Given the description of an element on the screen output the (x, y) to click on. 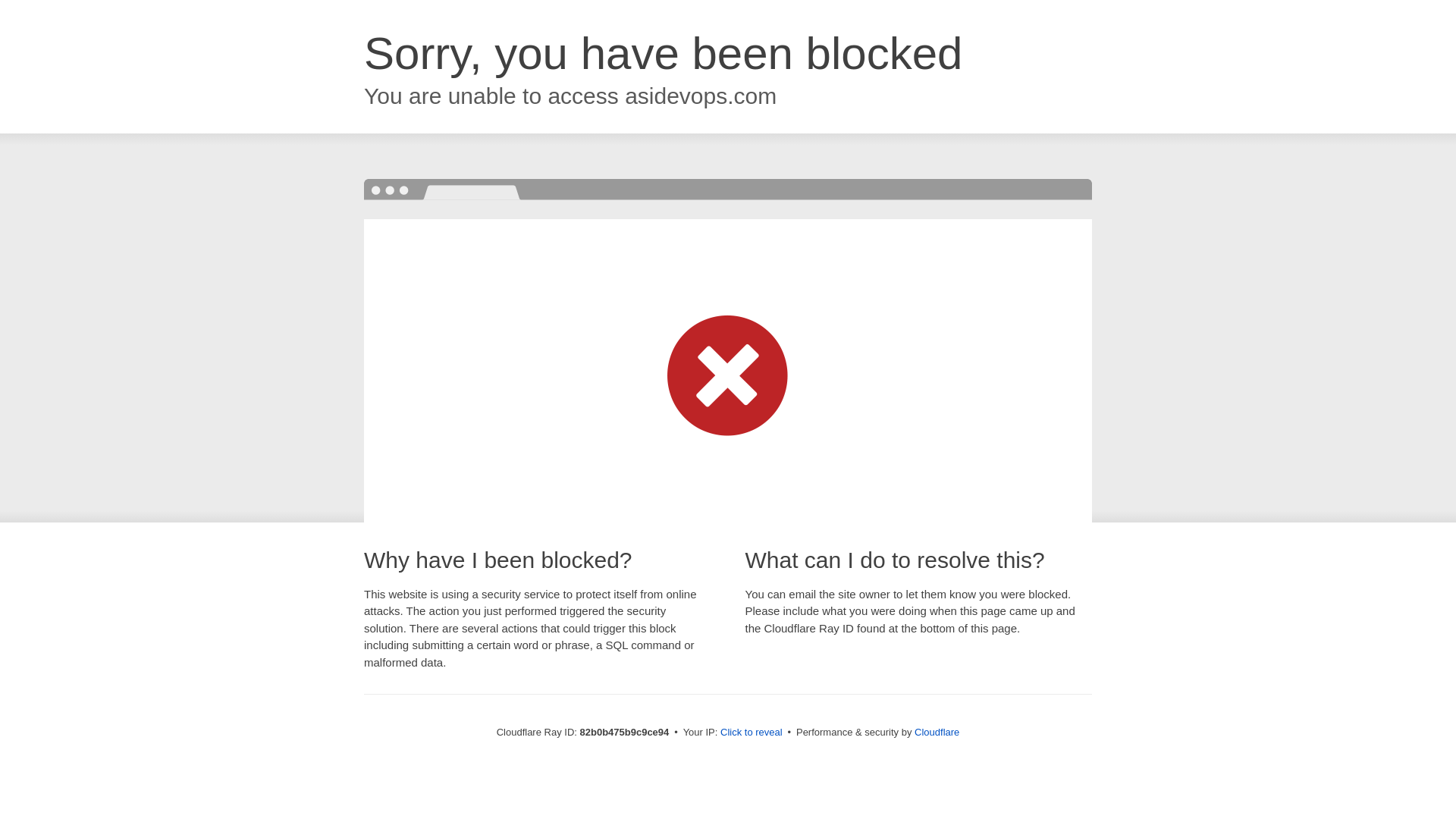
Cloudflare Element type: text (936, 731)
Click to reveal Element type: text (751, 732)
